Given the description of an element on the screen output the (x, y) to click on. 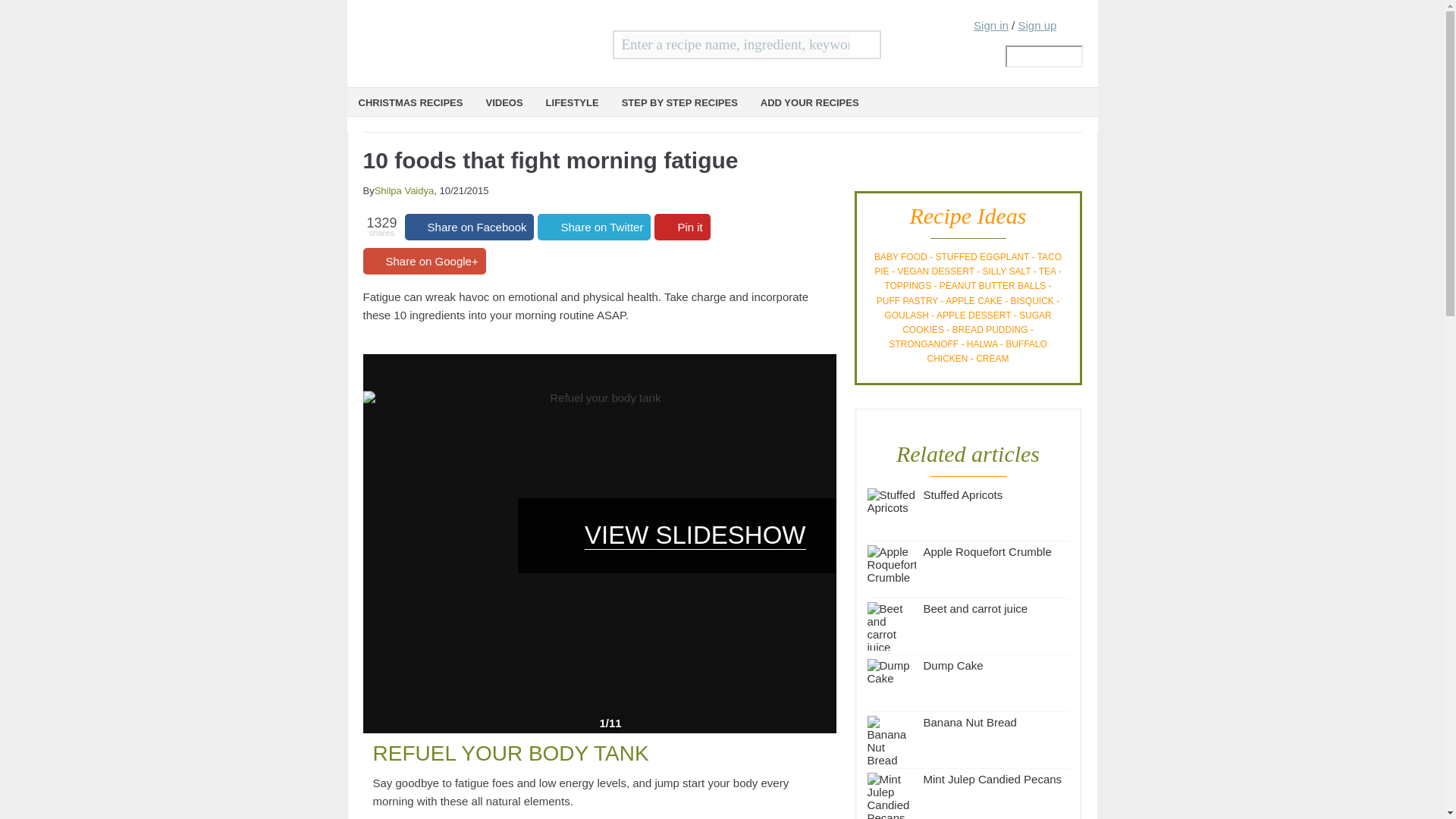
Christmas Recipes (410, 101)
LIFESTYLE (572, 101)
baby food recipes (901, 256)
BABY FOOD (901, 256)
Step By Step Recipes (679, 101)
STUFFED EGGPLANT (981, 256)
VIEW SLIDESHOW (676, 534)
CHRISTMAS RECIPES (410, 101)
Share on Twitter (593, 226)
Gourmandize (472, 35)
